Given the description of an element on the screen output the (x, y) to click on. 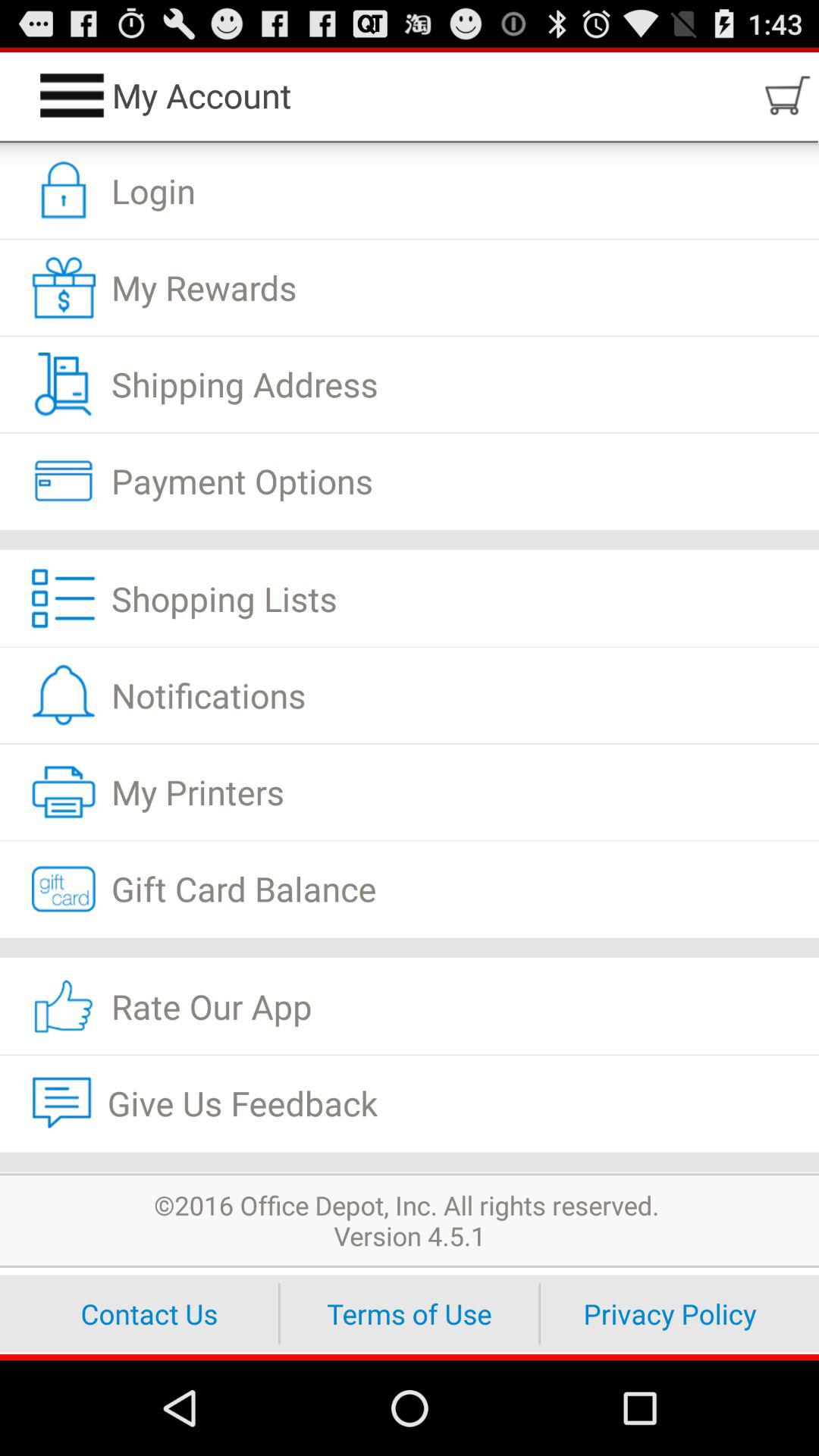
press app below my rewards icon (409, 384)
